Given the description of an element on the screen output the (x, y) to click on. 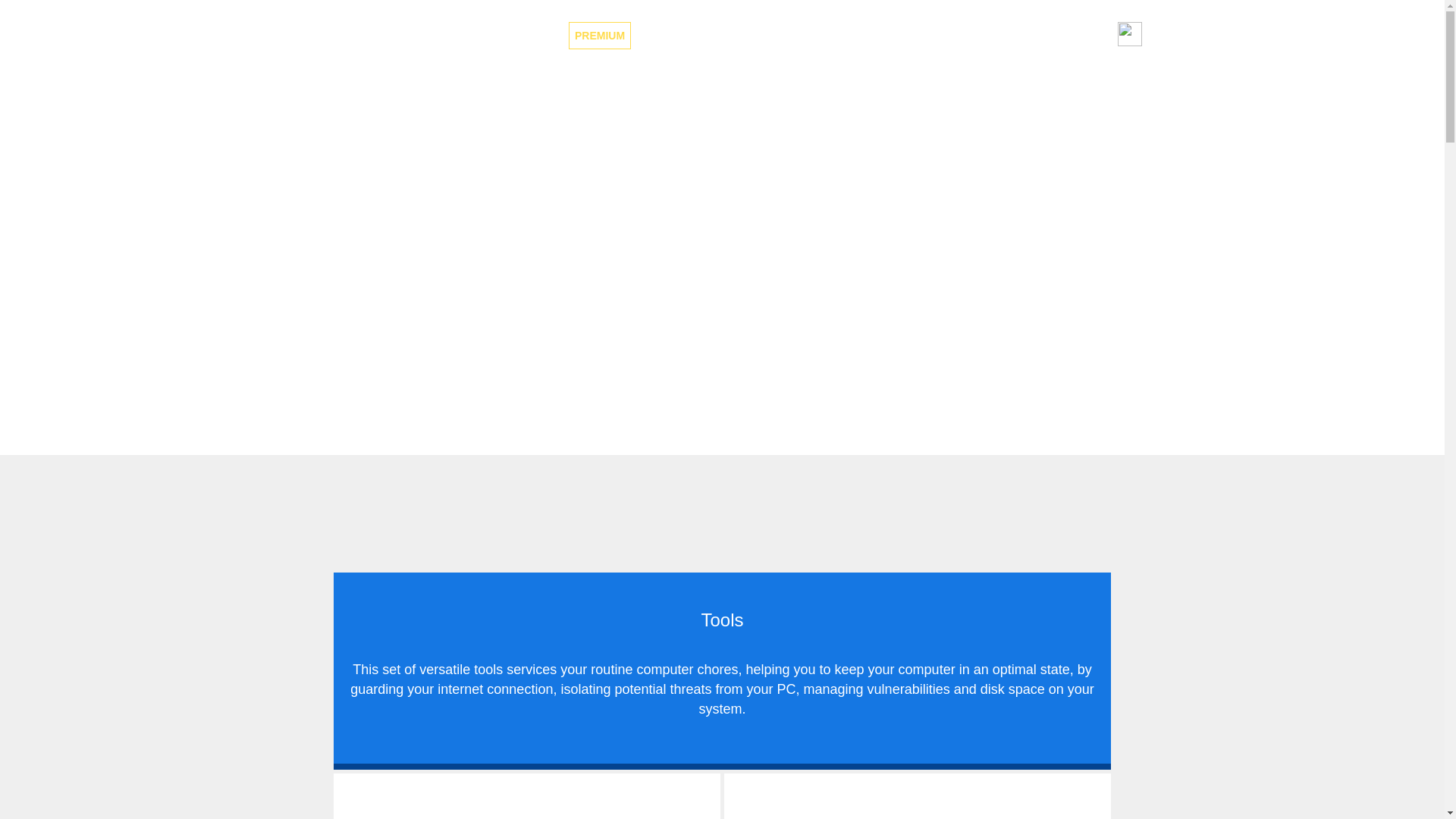
360 Total Security (404, 35)
BEDRIJVEN (721, 34)
Producten (822, 34)
360 Total Security voor Bedrijven (721, 34)
Premium (599, 35)
WINKEL (1037, 34)
Winkel (1037, 34)
PRODUCTEN (822, 34)
360 Total Security (404, 35)
ONDERSTEUNING (945, 34)
PREMIUM (599, 35)
Free Download (722, 322)
Download (945, 34)
